Given the description of an element on the screen output the (x, y) to click on. 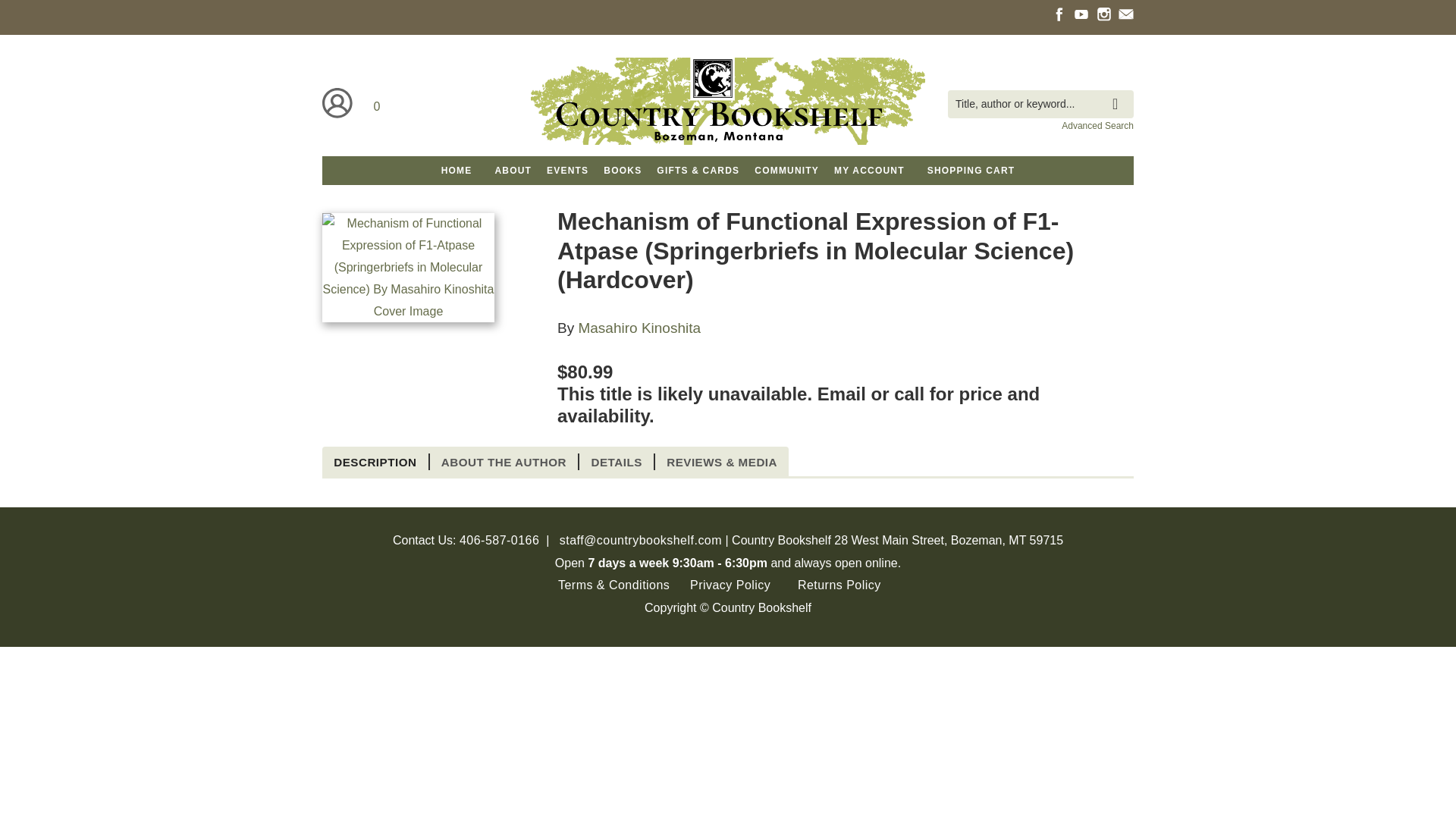
search (1118, 92)
search (1118, 92)
EVENTS (566, 170)
COMMUNITY (786, 170)
BOOKS (622, 170)
Advanced Search (1097, 125)
Title, author or keyword... (1040, 103)
HOME (456, 170)
ABOUT (512, 170)
Home (727, 103)
